Given the description of an element on the screen output the (x, y) to click on. 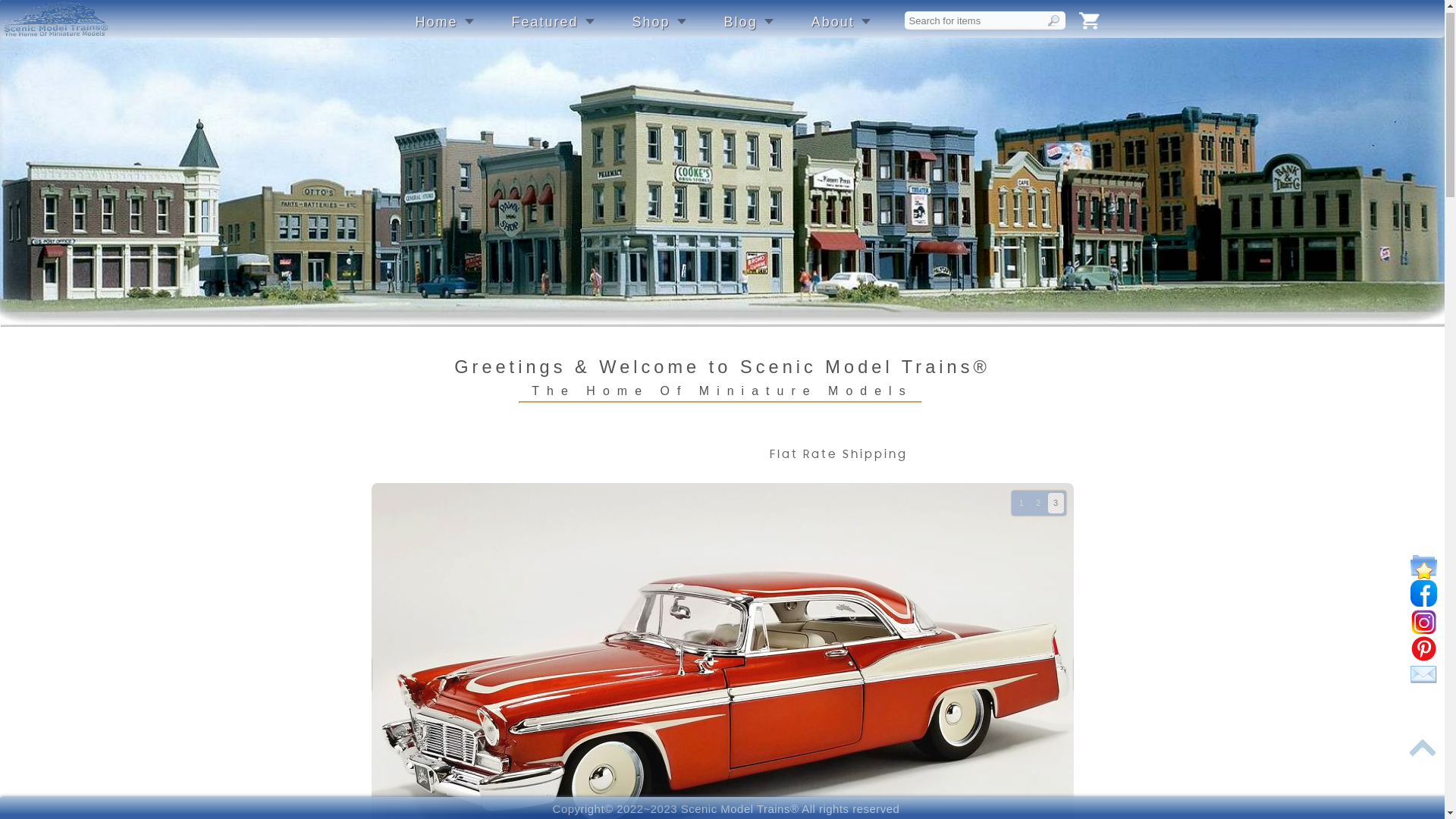
Shop For Woodland Scenics Products Element type: hover (721, 498)
Visit us on Instagam Element type: hover (1423, 629)
Blog Element type: text (748, 29)
Home Element type: text (444, 29)
Shop Element type: text (659, 29)
Featured Element type: text (552, 29)
2 Element type: text (1038, 510)
Add Page to Favourites - Bookmarks Element type: hover (1423, 574)
About Element type: text (840, 29)
Visit us on Facebook Element type: hover (1423, 600)
Previous Slide Element type: text (356, 682)
1 Element type: text (1021, 510)
3 Element type: text (1055, 510)
Go to Top of the Page Element type: hover (1422, 755)
Visit us on Pintrest Element type: hover (1423, 656)
Share this site by eMail Element type: hover (1423, 682)
View Shopping Cart Element type: hover (1088, 28)
